Given the description of an element on the screen output the (x, y) to click on. 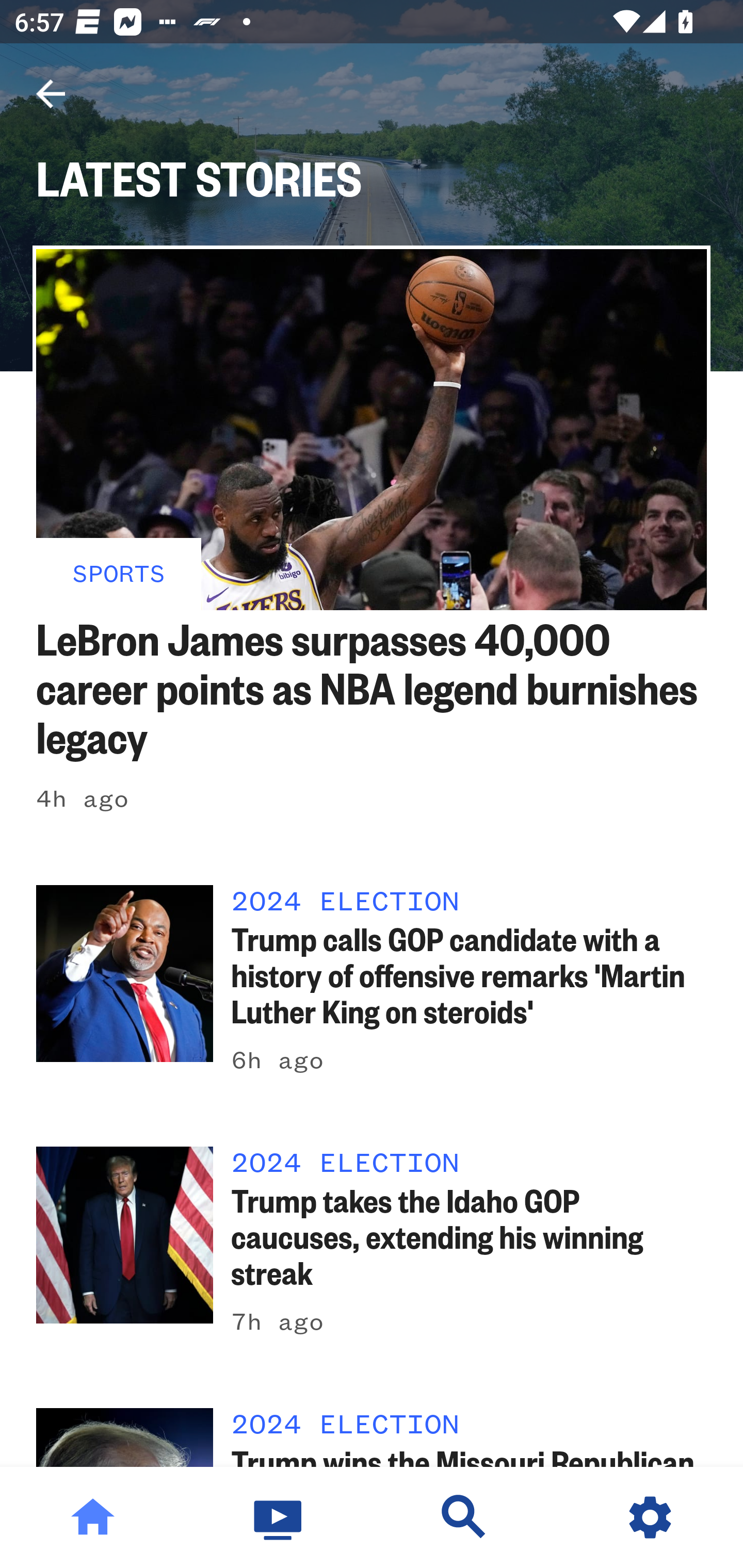
Navigate up (50, 93)
Watch (278, 1517)
Discover (464, 1517)
Settings (650, 1517)
